Given the description of an element on the screen output the (x, y) to click on. 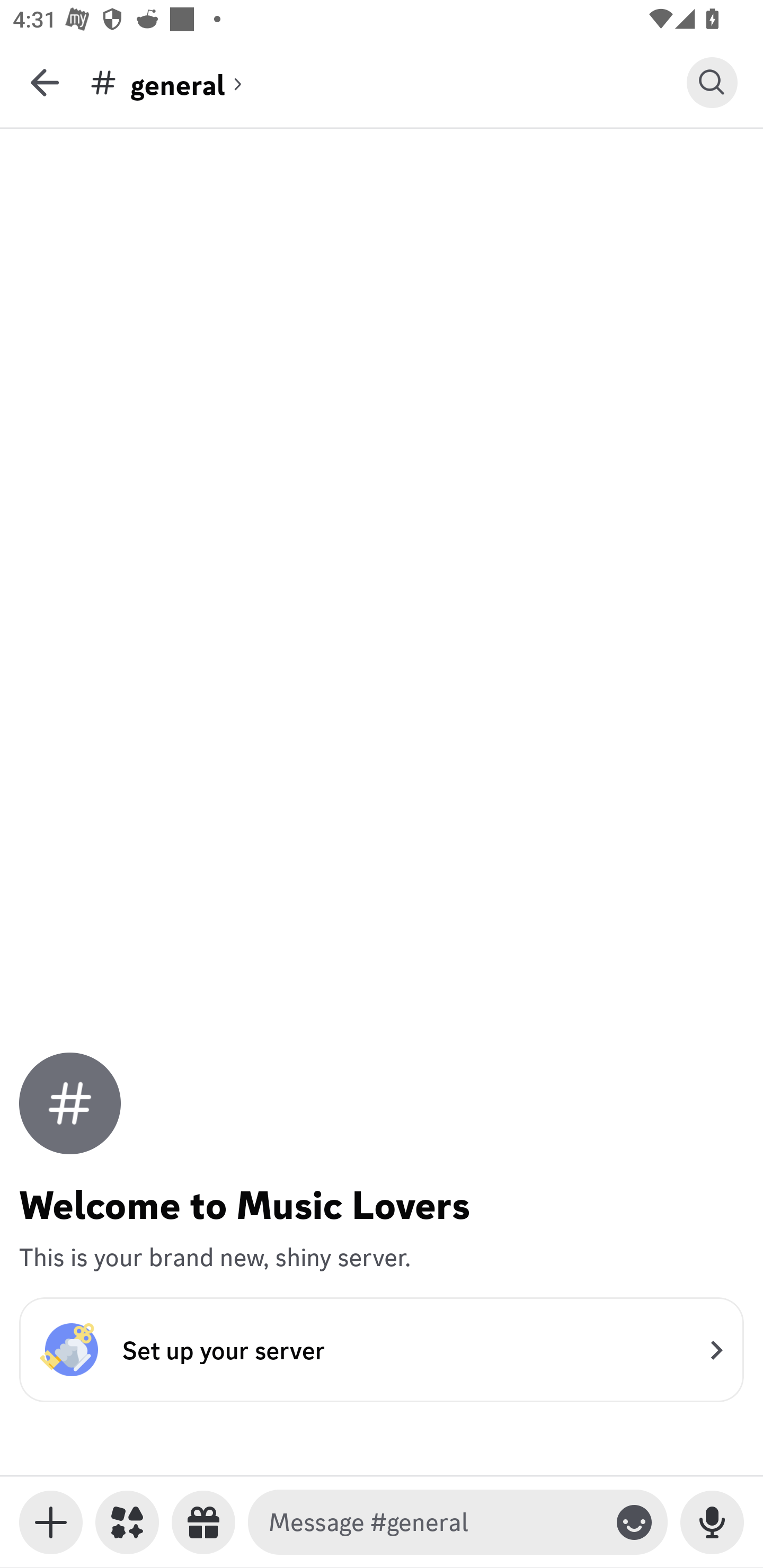
general (channel) general general (channel) (387, 82)
Back (44, 82)
Search (711, 82)
Set up your server (381, 1348)
Toggle media keyboard (50, 1522)
Apps (126, 1522)
Send a gift (203, 1522)
Record Voice Message (711, 1522)
Message #general (433, 1522)
Toggle emoji keyboard (634, 1522)
